Given the description of an element on the screen output the (x, y) to click on. 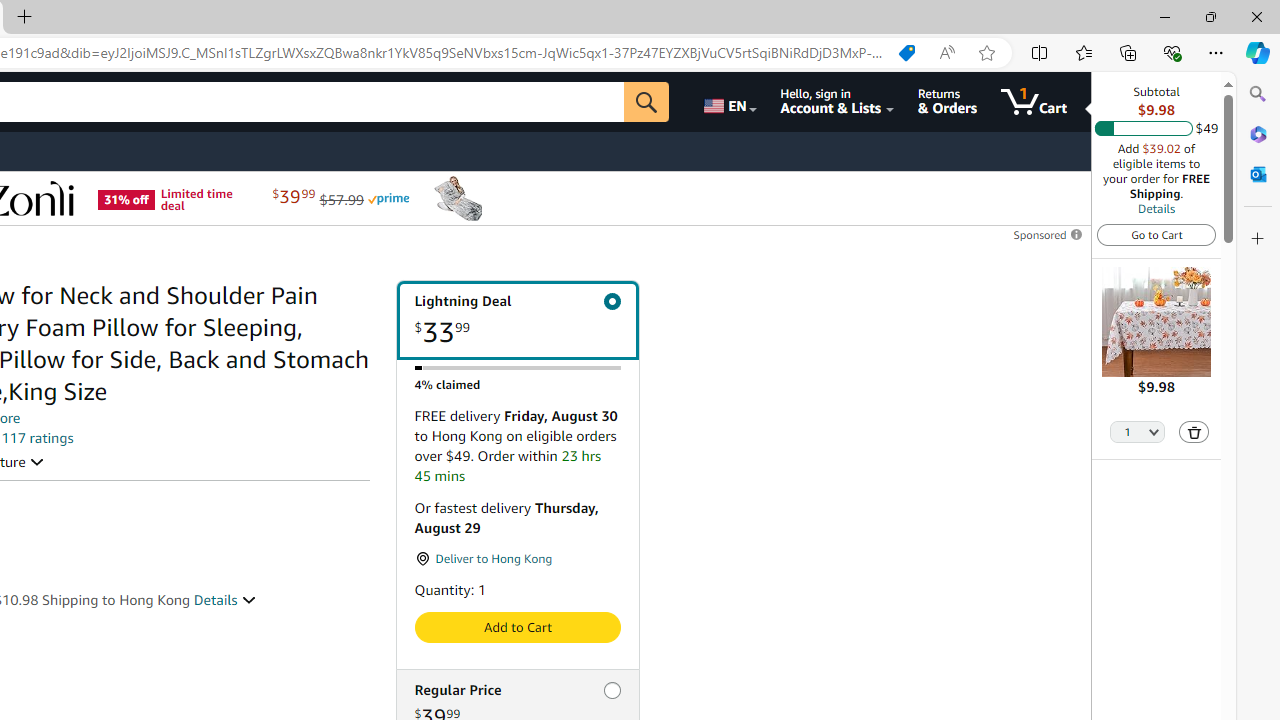
Add to Cart (516, 627)
Go (646, 101)
Delete (1194, 431)
Prime (388, 198)
You have the best price! (906, 53)
Quantity Selector (1137, 433)
Details (1156, 208)
Delete (1193, 431)
